Given the description of an element on the screen output the (x, y) to click on. 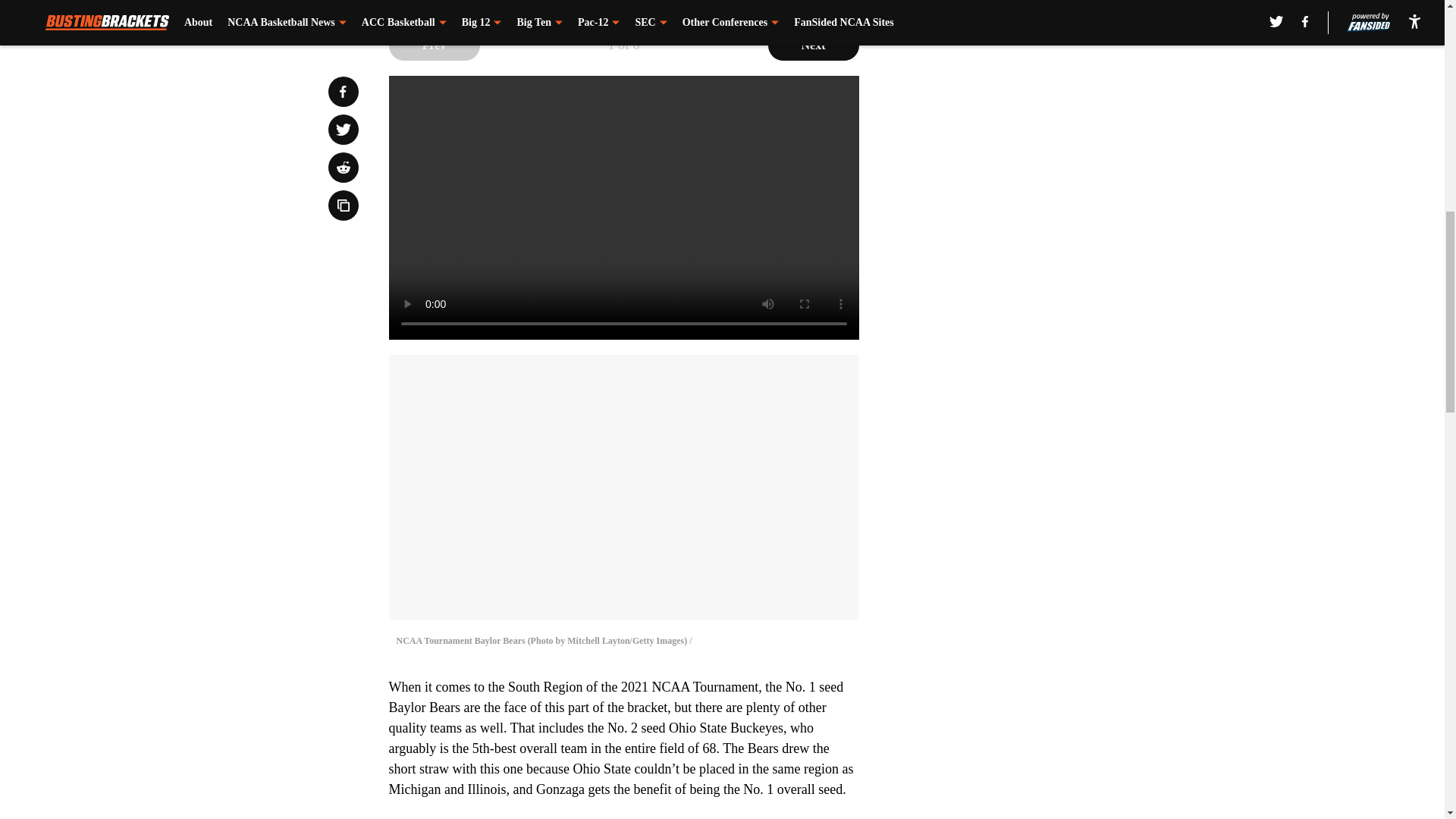
3rd party ad content (1047, 125)
3rd party ad content (1047, 344)
